Given the description of an element on the screen output the (x, y) to click on. 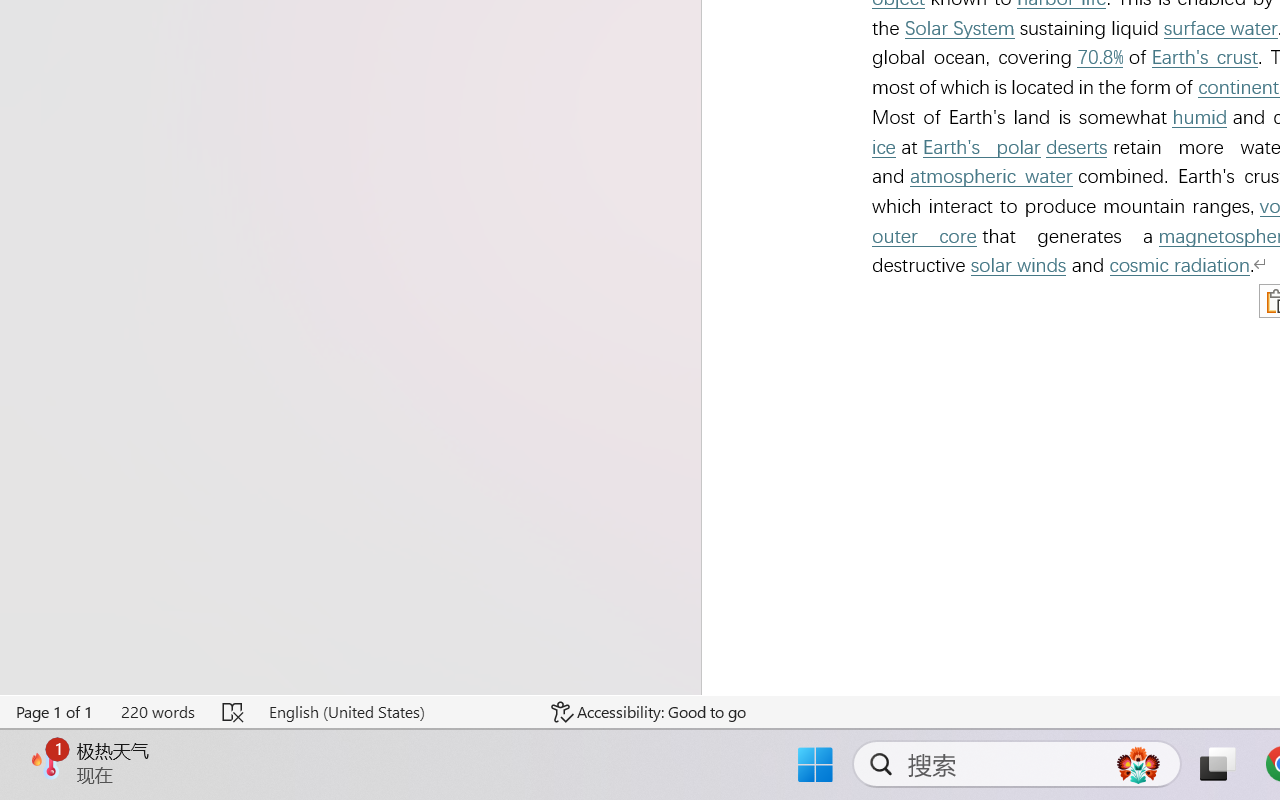
solar winds (1018, 265)
